Given the description of an element on the screen output the (x, y) to click on. 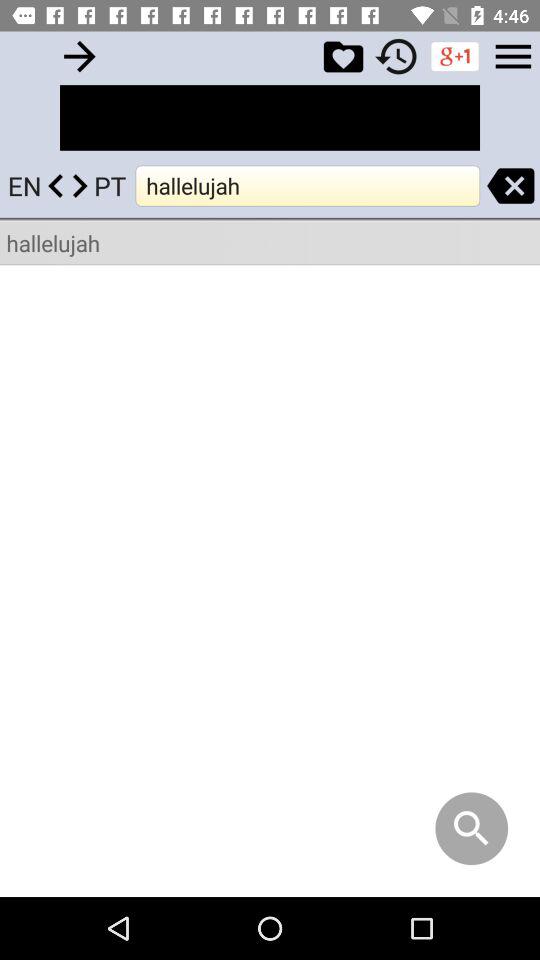
the menu bar (513, 56)
